Given the description of an element on the screen output the (x, y) to click on. 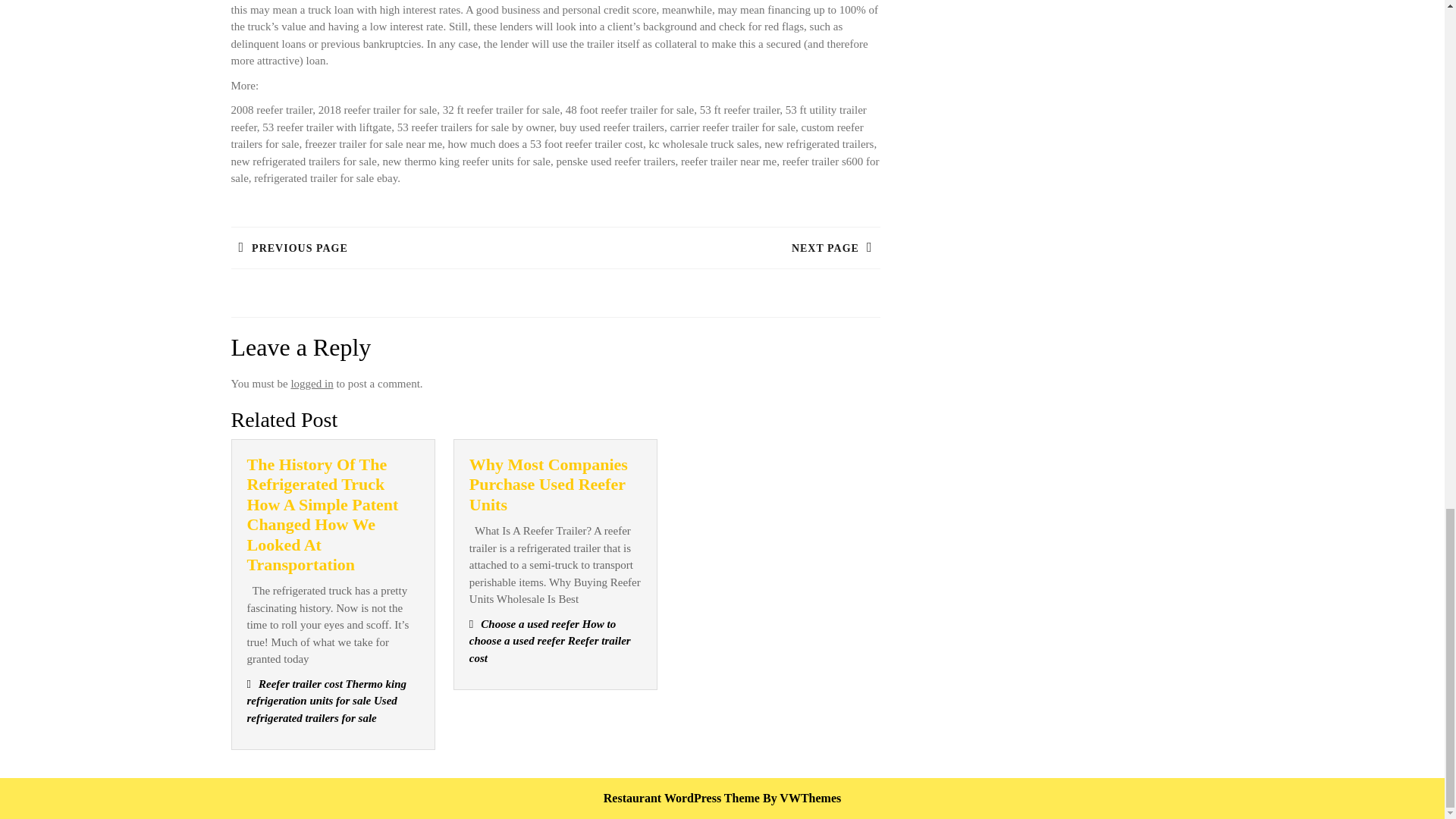
Restaurant WordPress Theme (682, 797)
logged in (716, 247)
By VWThemes (311, 383)
